Given the description of an element on the screen output the (x, y) to click on. 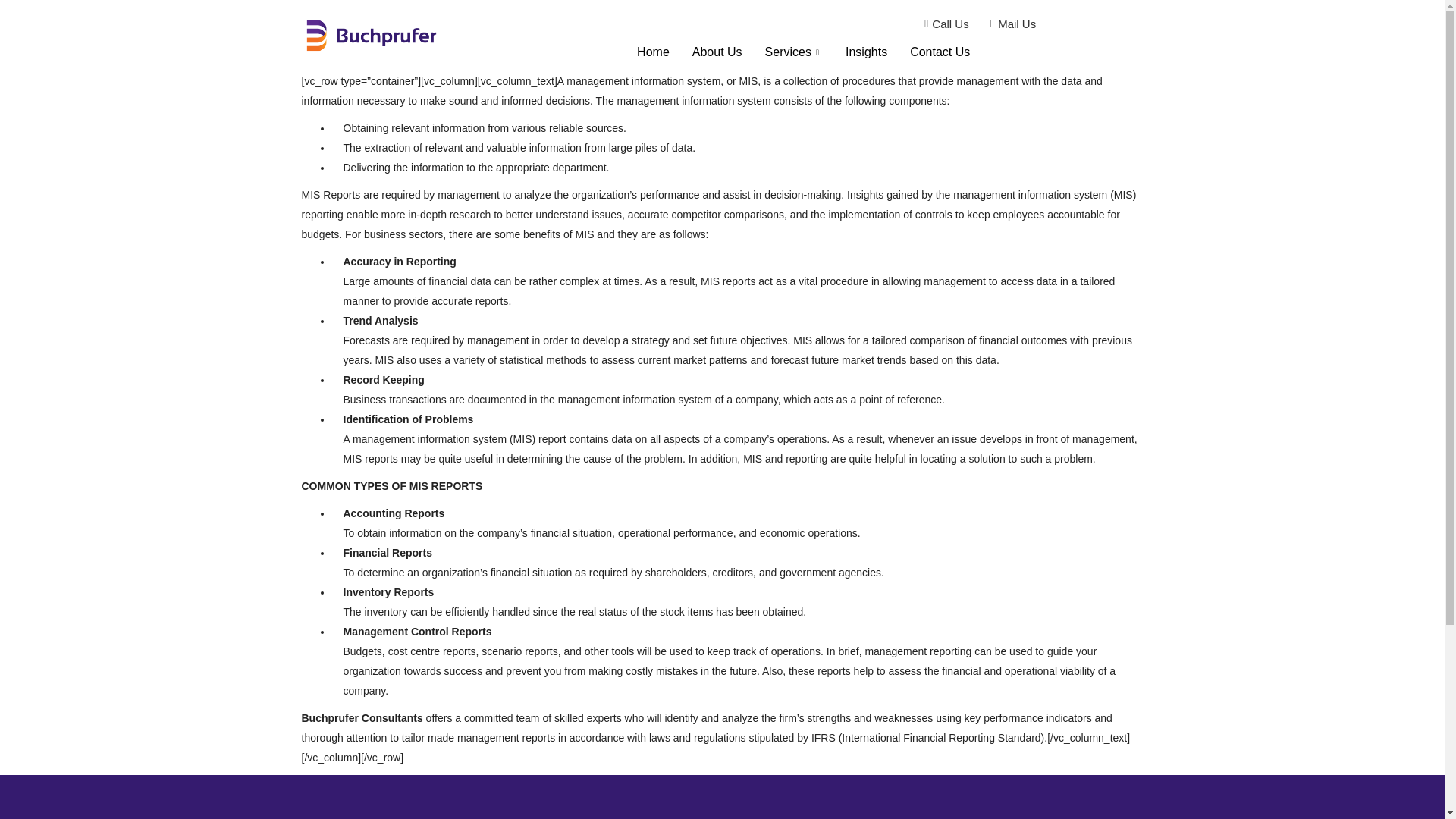
About Us (717, 51)
IFRS (822, 737)
Contact Us (939, 51)
Mail Us (1008, 24)
Call Us (942, 24)
Home (653, 51)
Insights (866, 51)
Services (794, 51)
